Given the description of an element on the screen output the (x, y) to click on. 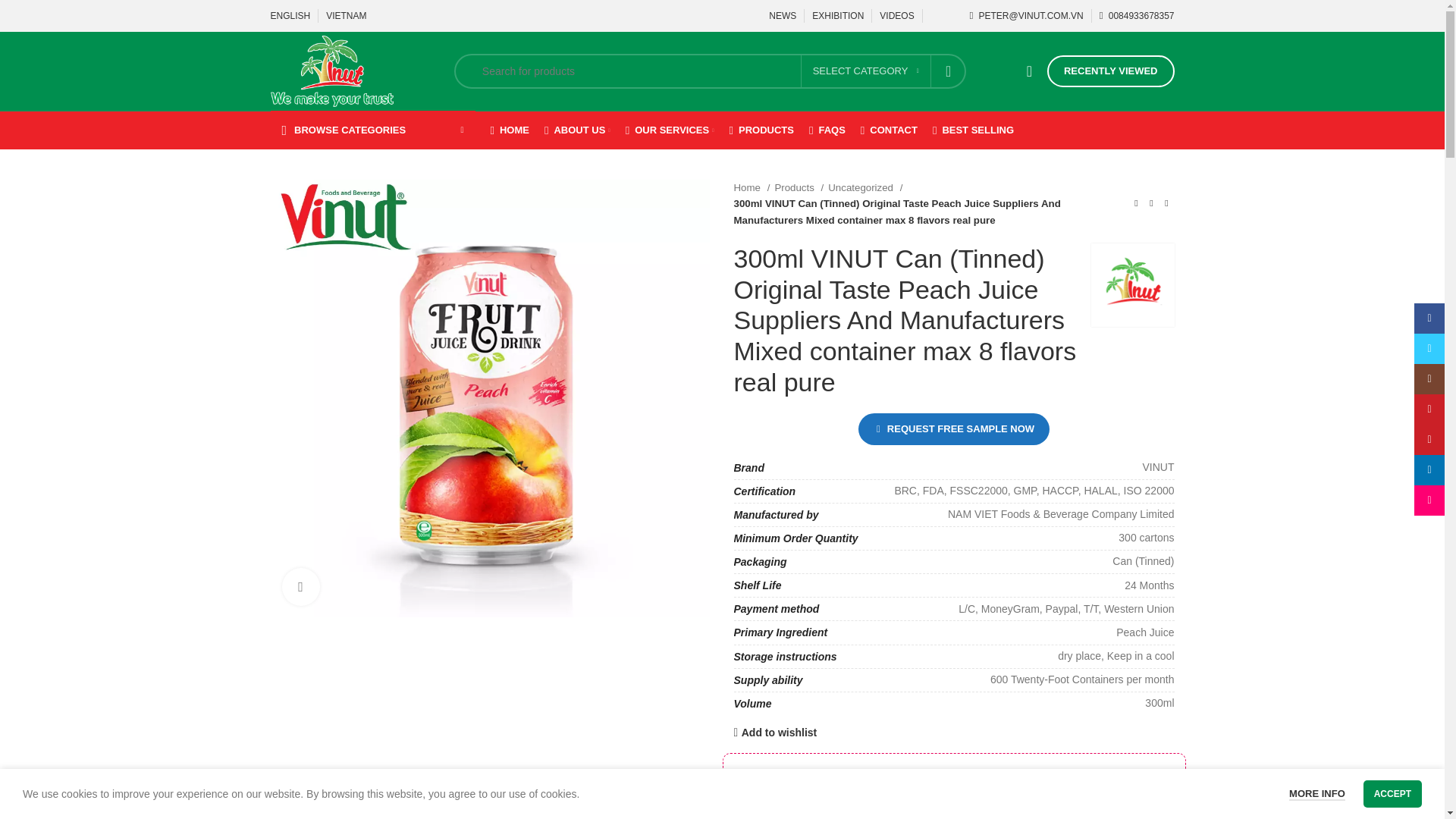
RECENTLY VIEWED (1110, 70)
VIDEOS (896, 15)
HOME (508, 130)
EXHIBITION (837, 15)
VIETNAM (346, 15)
NEWS (782, 15)
SELECT CATEGORY (865, 70)
ENGLISH (289, 15)
SEARCH (948, 71)
VINUT (1131, 284)
SELECT CATEGORY (865, 70)
0084933678357 (1136, 15)
My Wishlist (1029, 71)
ABOUT US (577, 130)
